Given the description of an element on the screen output the (x, y) to click on. 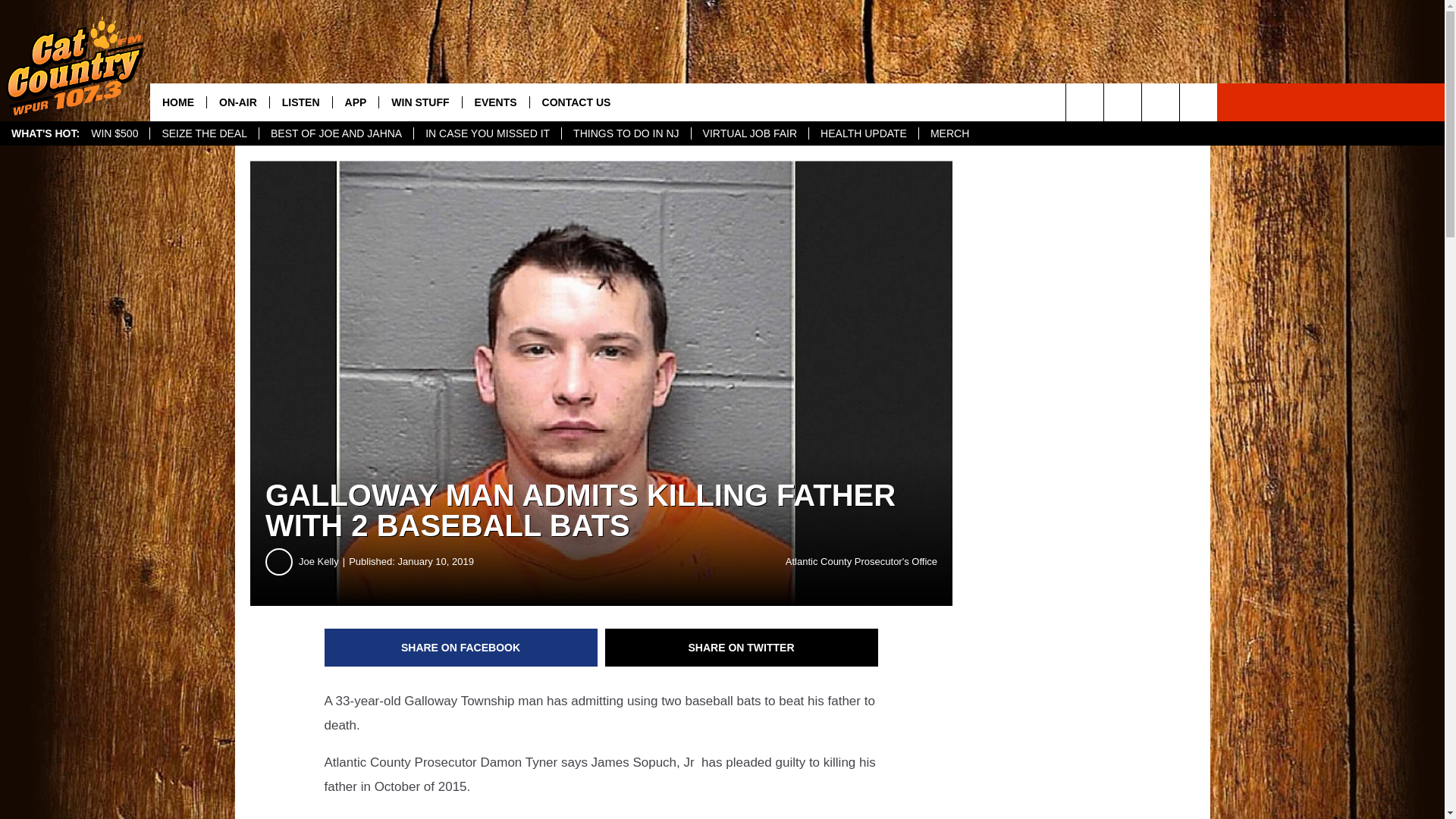
HOME (177, 102)
SEIZE THE DEAL (204, 133)
VIRTUAL JOB FAIR (749, 133)
ON-AIR (237, 102)
BEST OF JOE AND JAHNA (336, 133)
LISTEN (300, 102)
MERCH (948, 133)
THINGS TO DO IN NJ (625, 133)
Share on Facebook (460, 647)
Share on Twitter (741, 647)
